Given the description of an element on the screen output the (x, y) to click on. 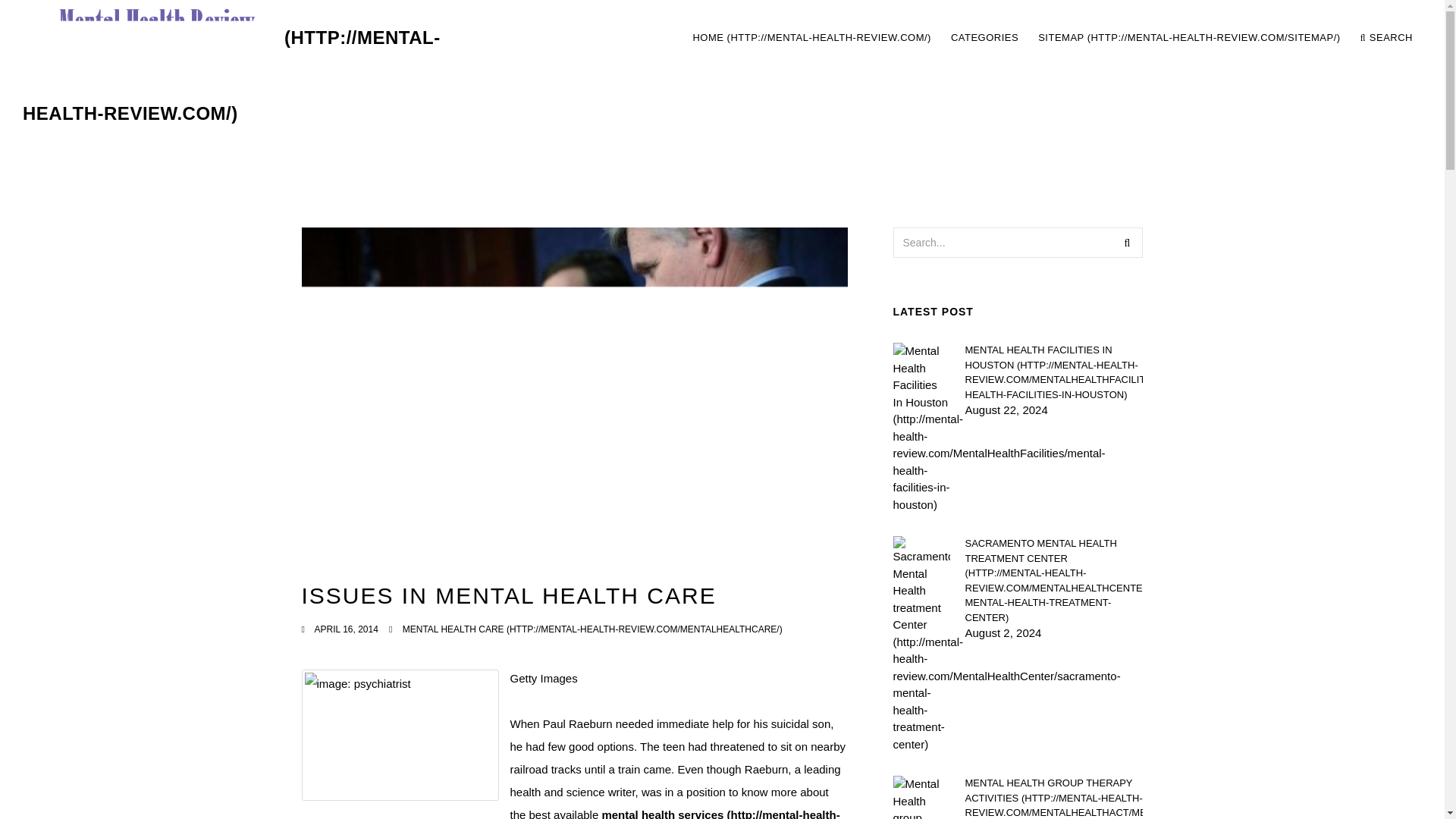
SACRAMENTO MENTAL HEALTH TREATMENT CENTER (1052, 580)
MENTAL HEALTH FACILITIES IN HOUSTON (1052, 372)
image: psychiatrist (400, 734)
Community Mental Health Services (570, 813)
HOME (810, 38)
SEARCH (1386, 38)
Search (1126, 242)
Mental Health Review (232, 75)
SITEMAP (1189, 38)
mental health services (570, 813)
